Given the description of an element on the screen output the (x, y) to click on. 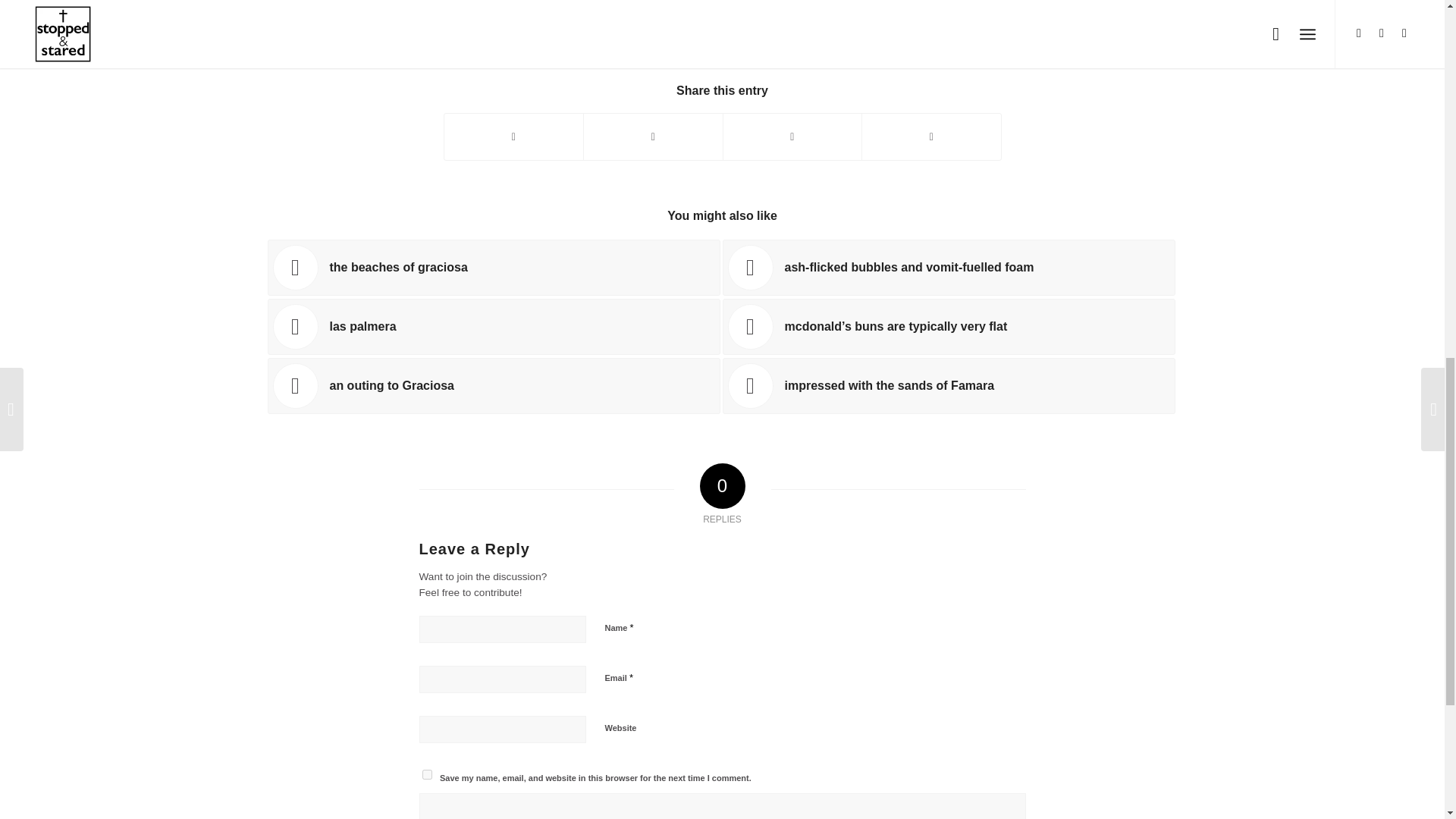
yes (426, 774)
LANZAROTE (959, 25)
VOLCANO (803, 49)
0 COMMENTS (668, 10)
VINYARD (739, 49)
GRAPES (959, 4)
the beaches of graciosa (492, 267)
LLOYDHM (767, 10)
ash-flicked bubbles and vomit-fuelled foam (948, 267)
VINES (685, 49)
las palmera (492, 326)
PROPAGATION (615, 49)
WINE (858, 49)
the beaches of graciosa (492, 267)
impressed with the sands of Famara (948, 385)
